Given the description of an element on the screen output the (x, y) to click on. 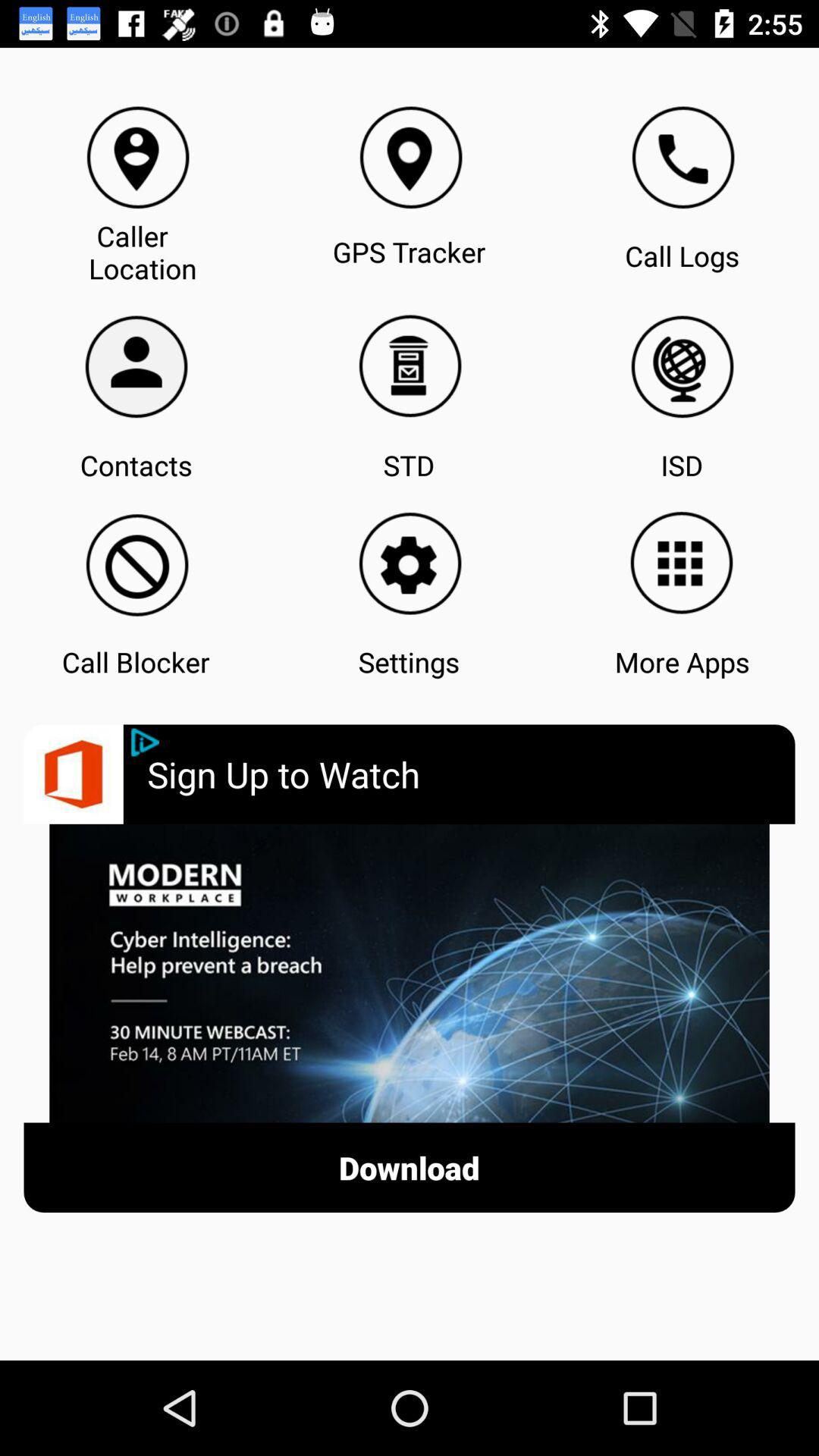
open the app below the call blocker app (471, 774)
